Given the description of an element on the screen output the (x, y) to click on. 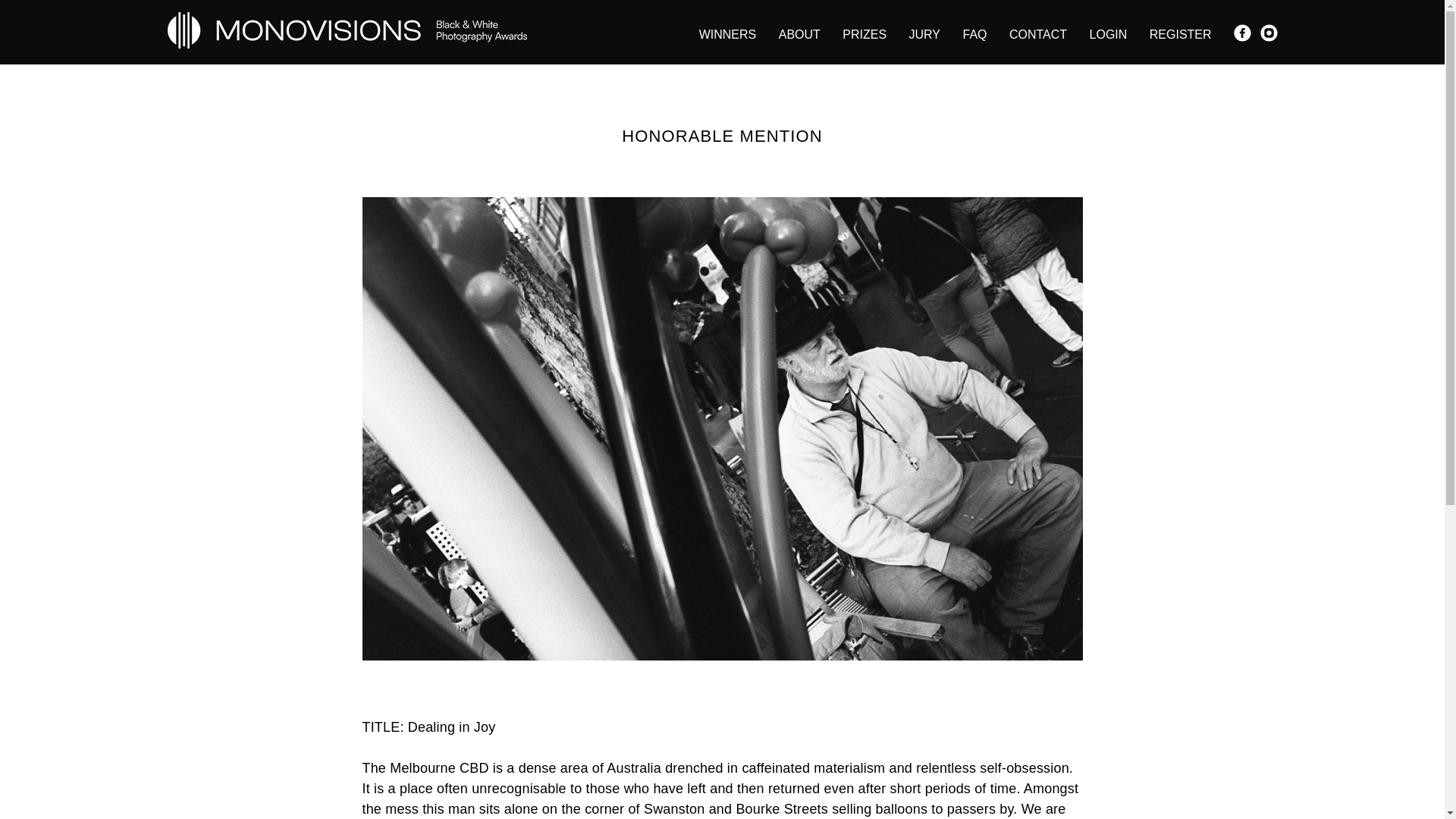
REGISTER (1180, 33)
PRIZES (864, 33)
WINNERS (727, 33)
CONTACT (1038, 33)
JURY (924, 33)
FAQ (974, 33)
ABOUT (799, 33)
LOGIN (1107, 33)
